Given the description of an element on the screen output the (x, y) to click on. 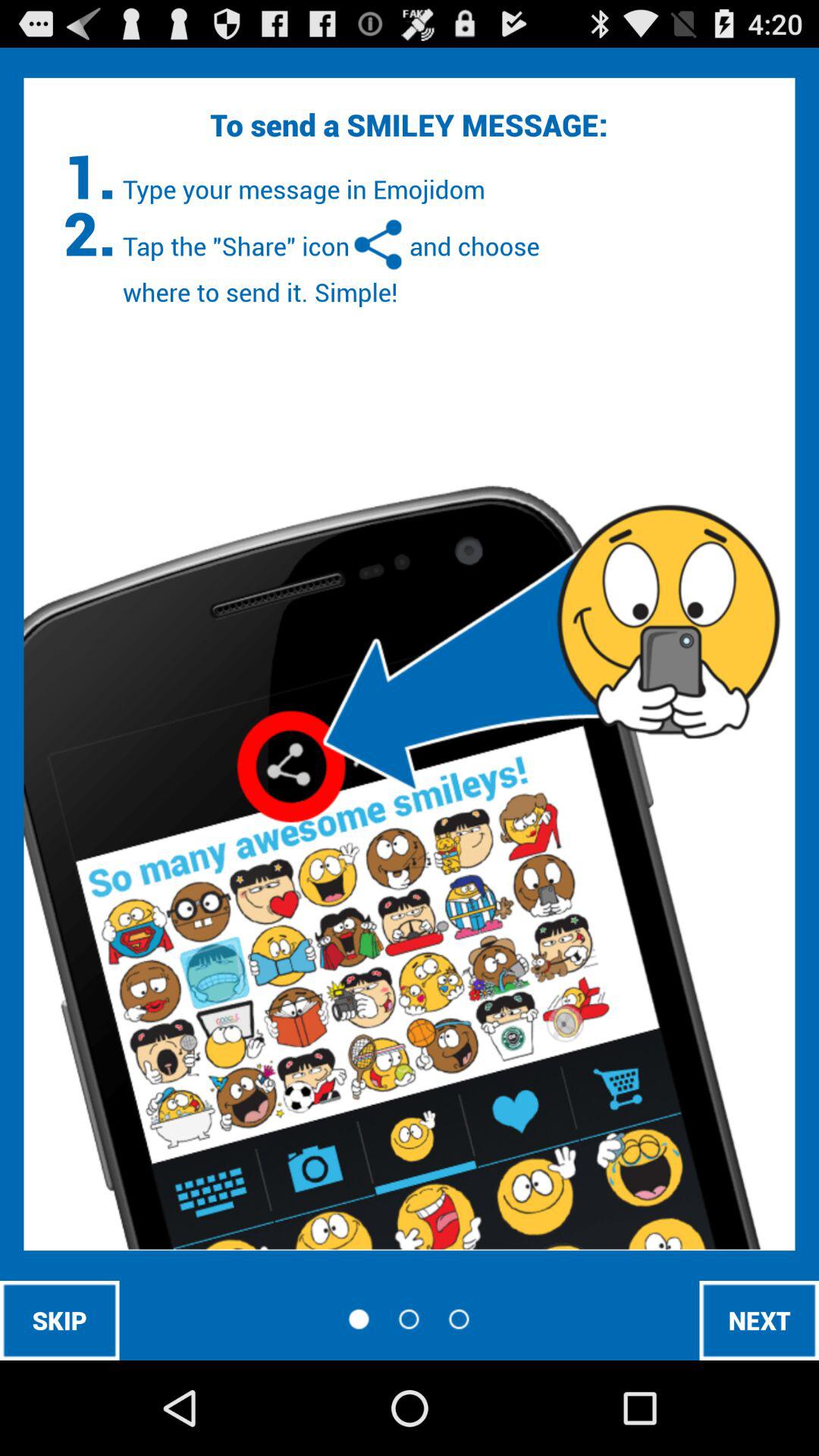
jump until the skip (59, 1320)
